Given the description of an element on the screen output the (x, y) to click on. 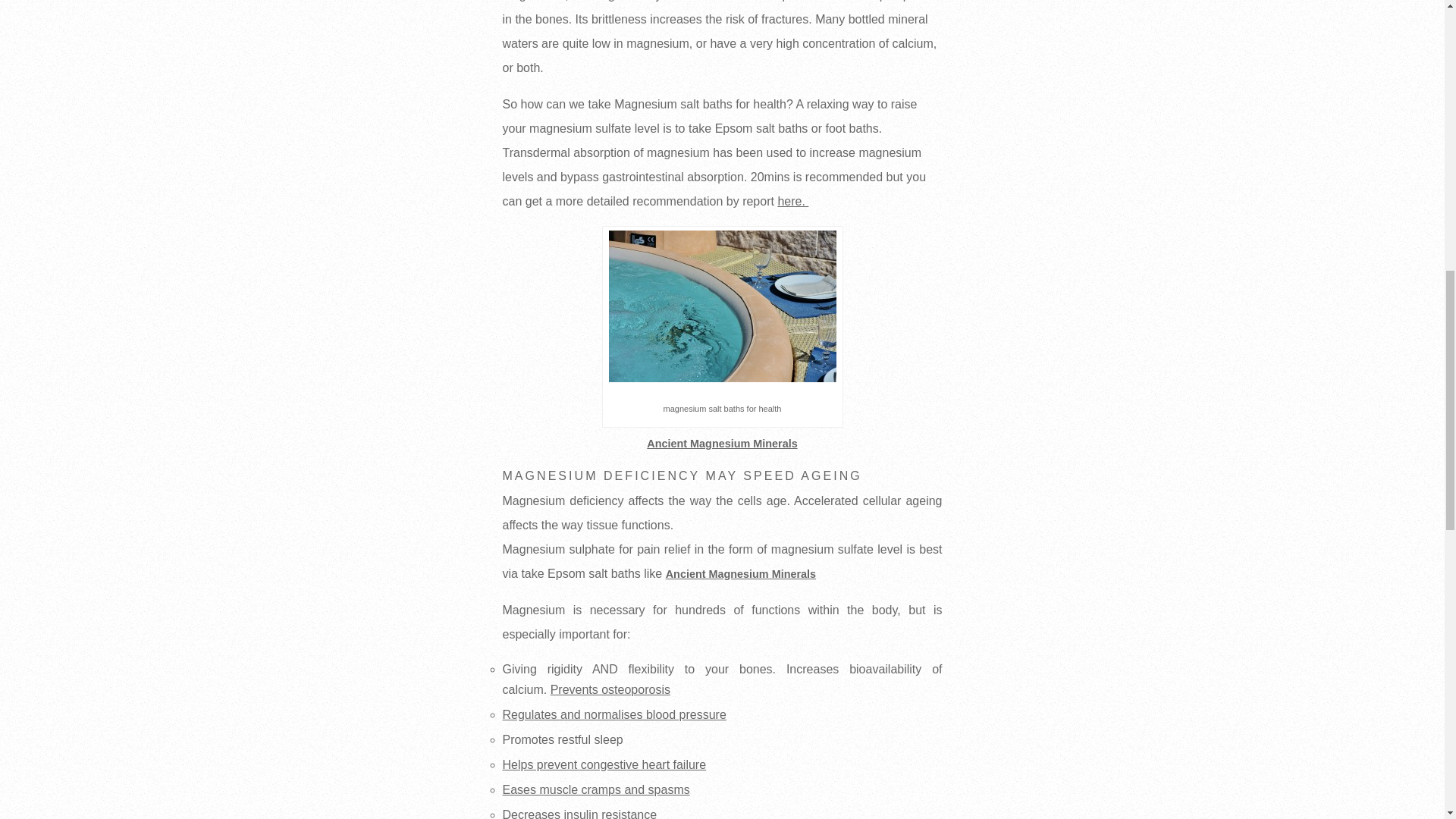
Helps prevent congestive heart failure (604, 764)
Eases muscle cramps and spasms (595, 789)
Ancient Magnesium Minerals (721, 442)
Ancient Magnesium Minerals (740, 573)
Prevents osteoporosis (609, 689)
Regulates and normalises blood pressure (613, 714)
Decreases insulin resistance (579, 813)
here.  (792, 201)
